Given the description of an element on the screen output the (x, y) to click on. 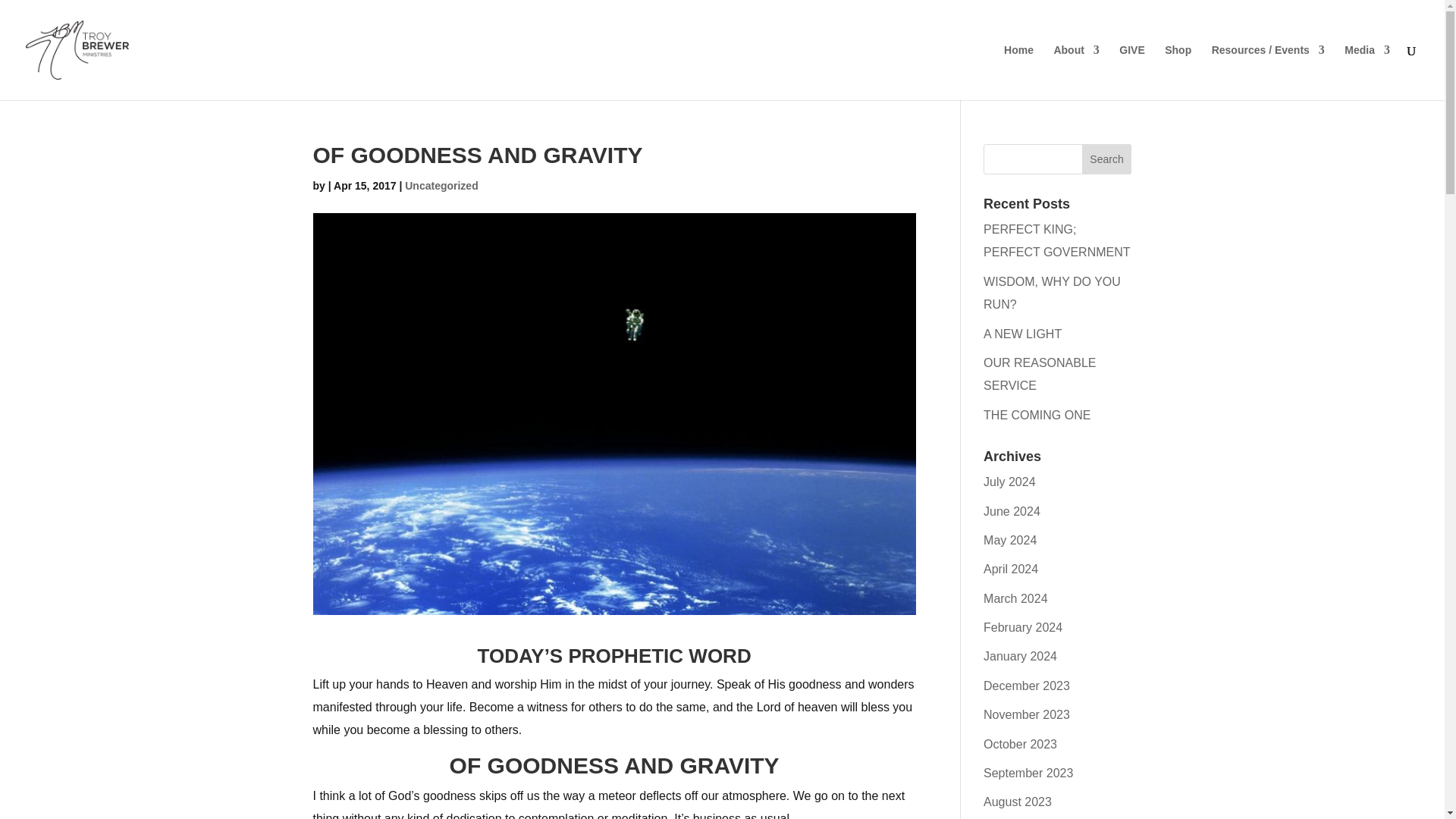
About (1075, 72)
Home (1018, 72)
GIVE (1131, 72)
Media (1366, 72)
Shop (1177, 72)
Search (1106, 159)
